Given the description of an element on the screen output the (x, y) to click on. 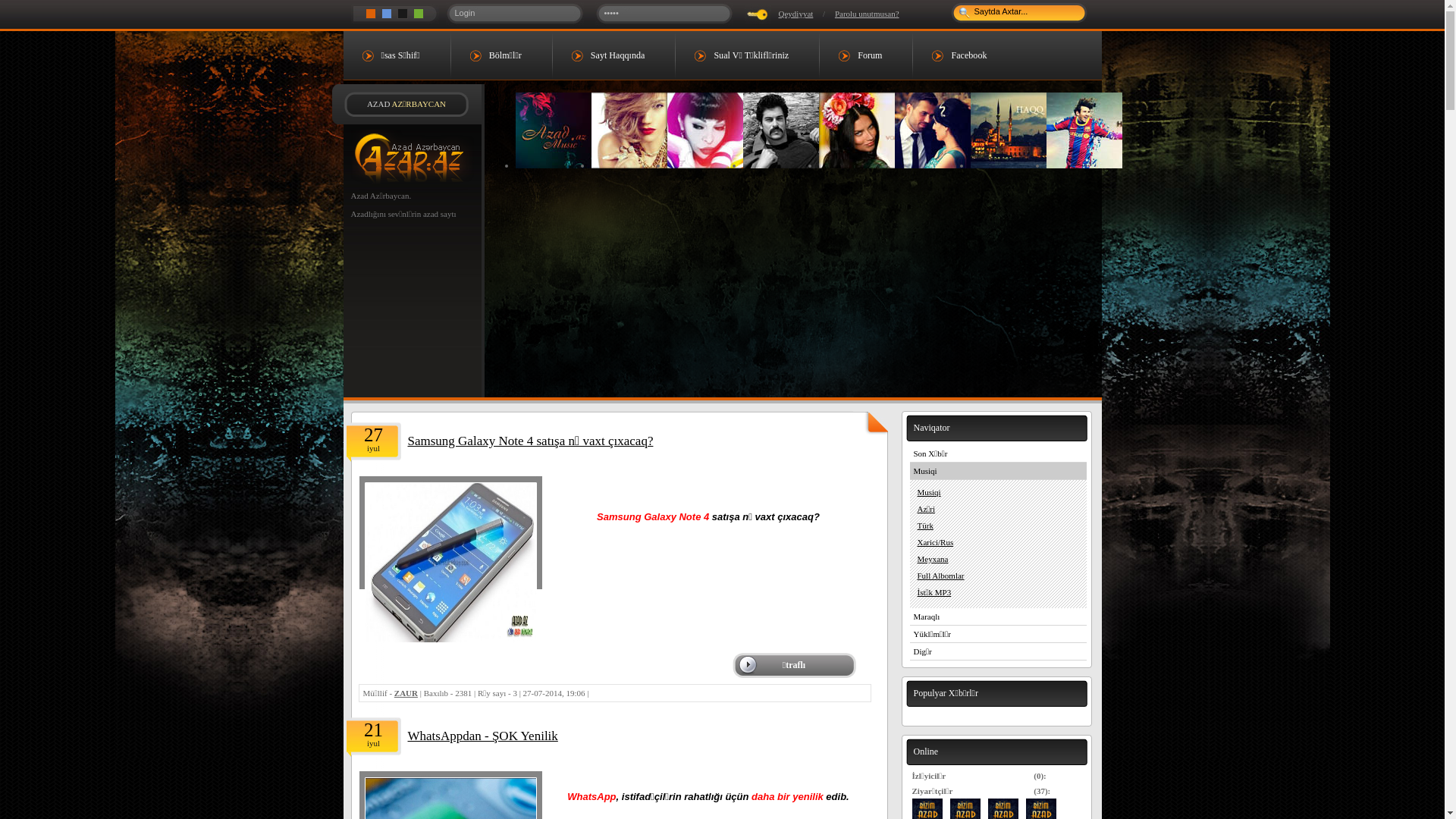
Meyxana Element type: text (997, 558)
Qeydiyyat Element type: text (795, 13)
ZAUR Element type: text (405, 692)
Sevgi - Romantika Element type: hover (1084, 130)
Full Albomlar Element type: text (997, 575)
Musiqi Element type: text (997, 491)
Facebook Element type: text (964, 55)
Music Azad.Az Element type: hover (553, 130)
Parolunuz Element type: hover (664, 12)
Forum Element type: text (865, 55)
Mavi Dizayn Element type: hover (385, 13)
Parolu unutmusan? Element type: text (866, 13)
Xarici/Rus Element type: text (997, 541)
